Given the description of an element on the screen output the (x, y) to click on. 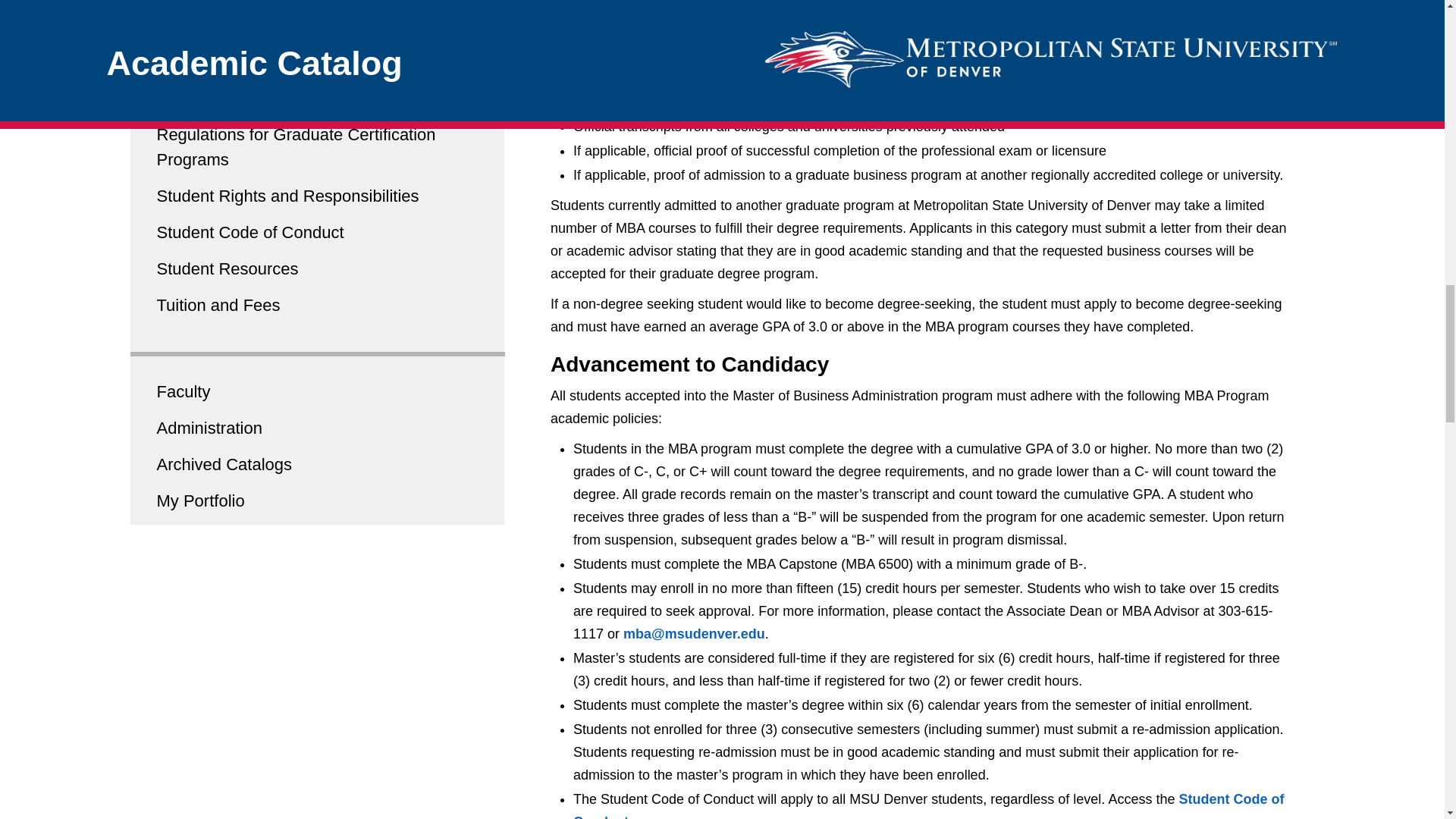
Registration and Records (249, 61)
